Given the description of an element on the screen output the (x, y) to click on. 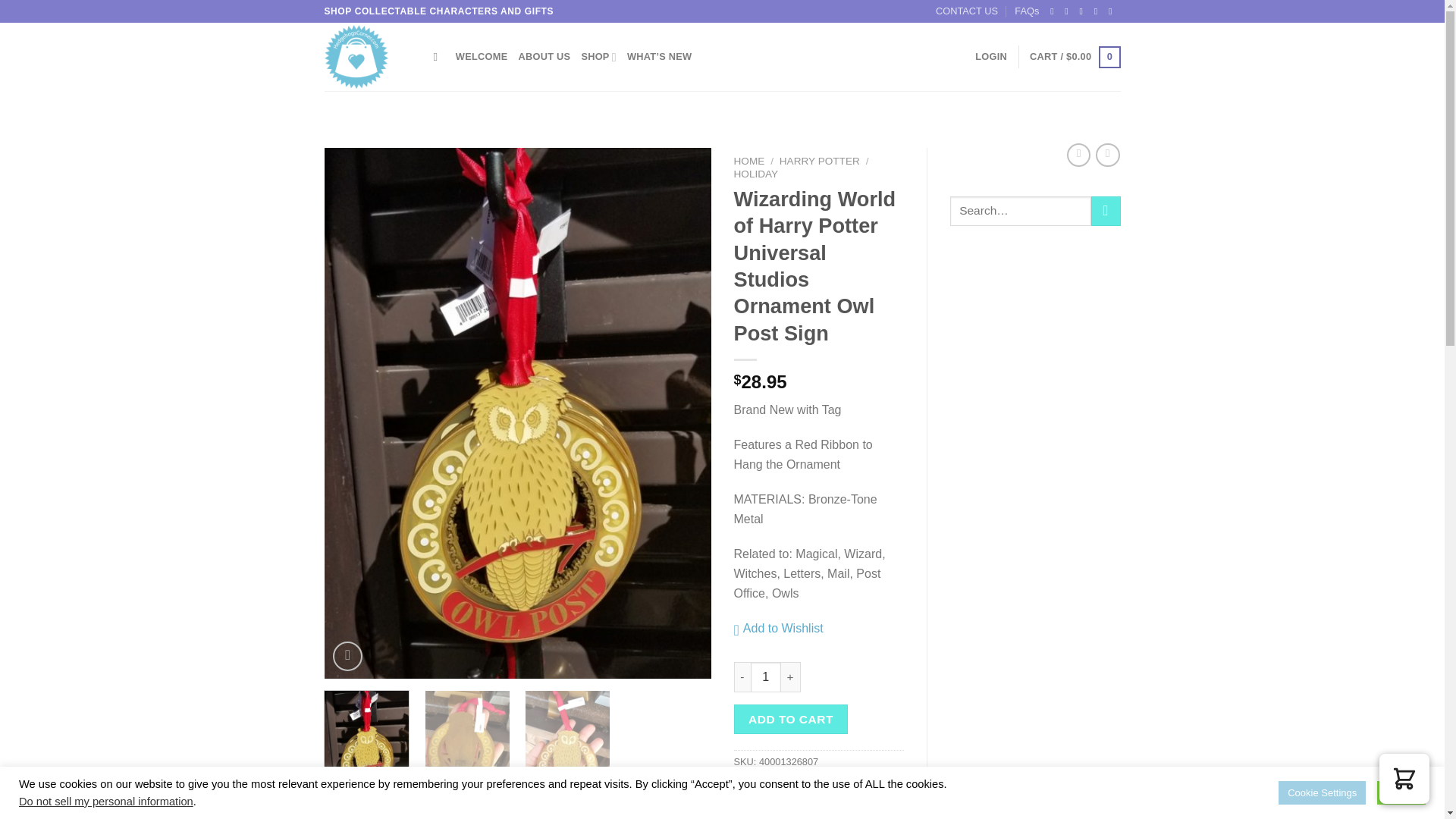
HOME (749, 161)
CONTACT US (966, 11)
LOGIN (991, 56)
Login (991, 56)
HARRY POTTER (819, 161)
WELCOME (481, 56)
1 (765, 676)
Zoom (347, 655)
ABOUT US (544, 56)
SHOP (597, 56)
FAQs (1026, 11)
HOLIDAY (755, 173)
Cart (1074, 57)
